Given the description of an element on the screen output the (x, y) to click on. 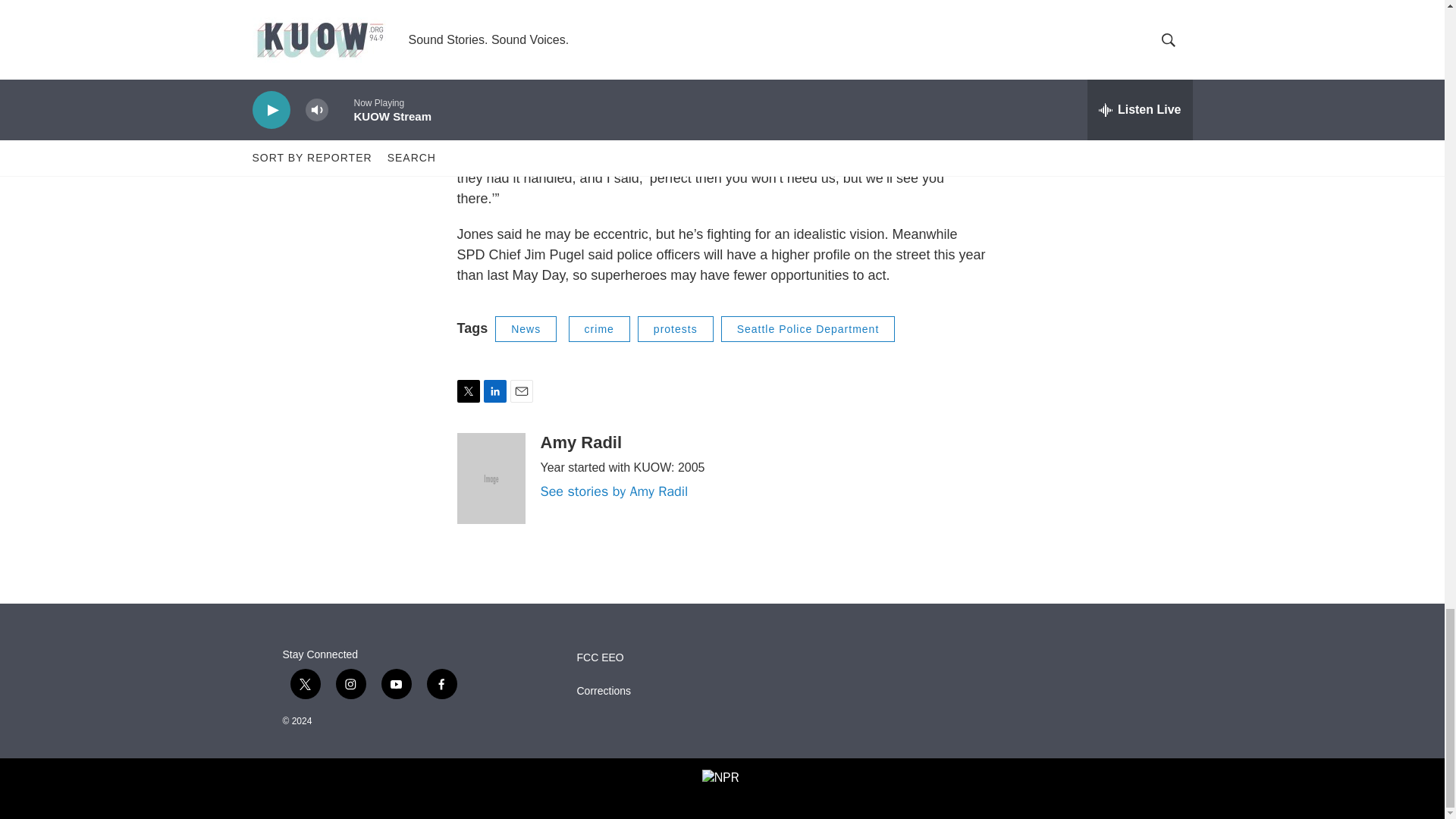
LinkedIn (494, 391)
instagram (349, 684)
Email (520, 391)
Twitter (468, 391)
protests (675, 329)
twitter (304, 684)
crime (599, 329)
News (525, 329)
Seattle Police Department (807, 329)
See stories by Amy Radil (613, 491)
